Given the description of an element on the screen output the (x, y) to click on. 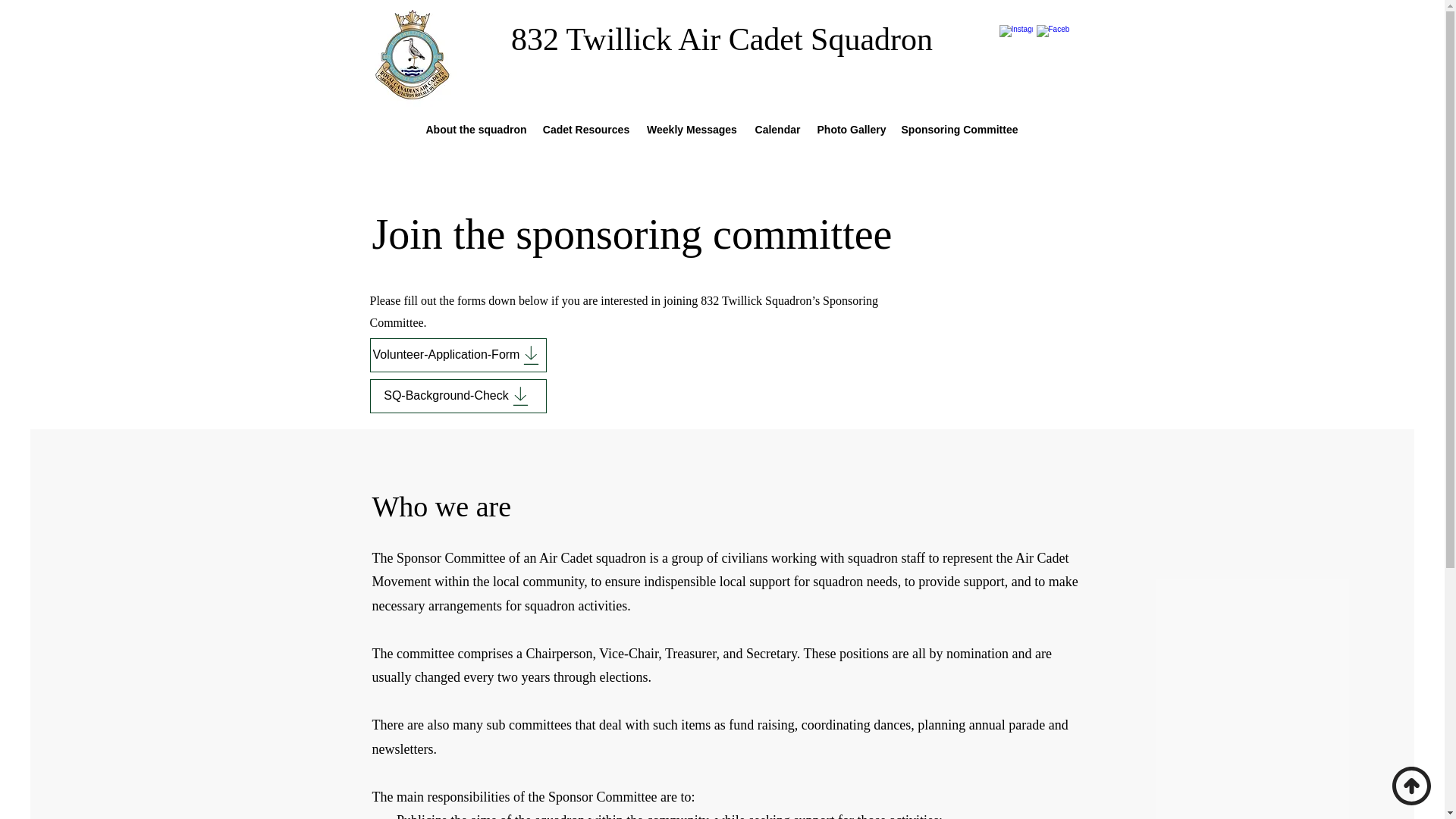
Weekly Messages (691, 129)
Calendar (777, 129)
Photo Gallery (850, 129)
SQ-Background-Check (458, 396)
Volunteer-Application-Form (458, 355)
